Given the description of an element on the screen output the (x, y) to click on. 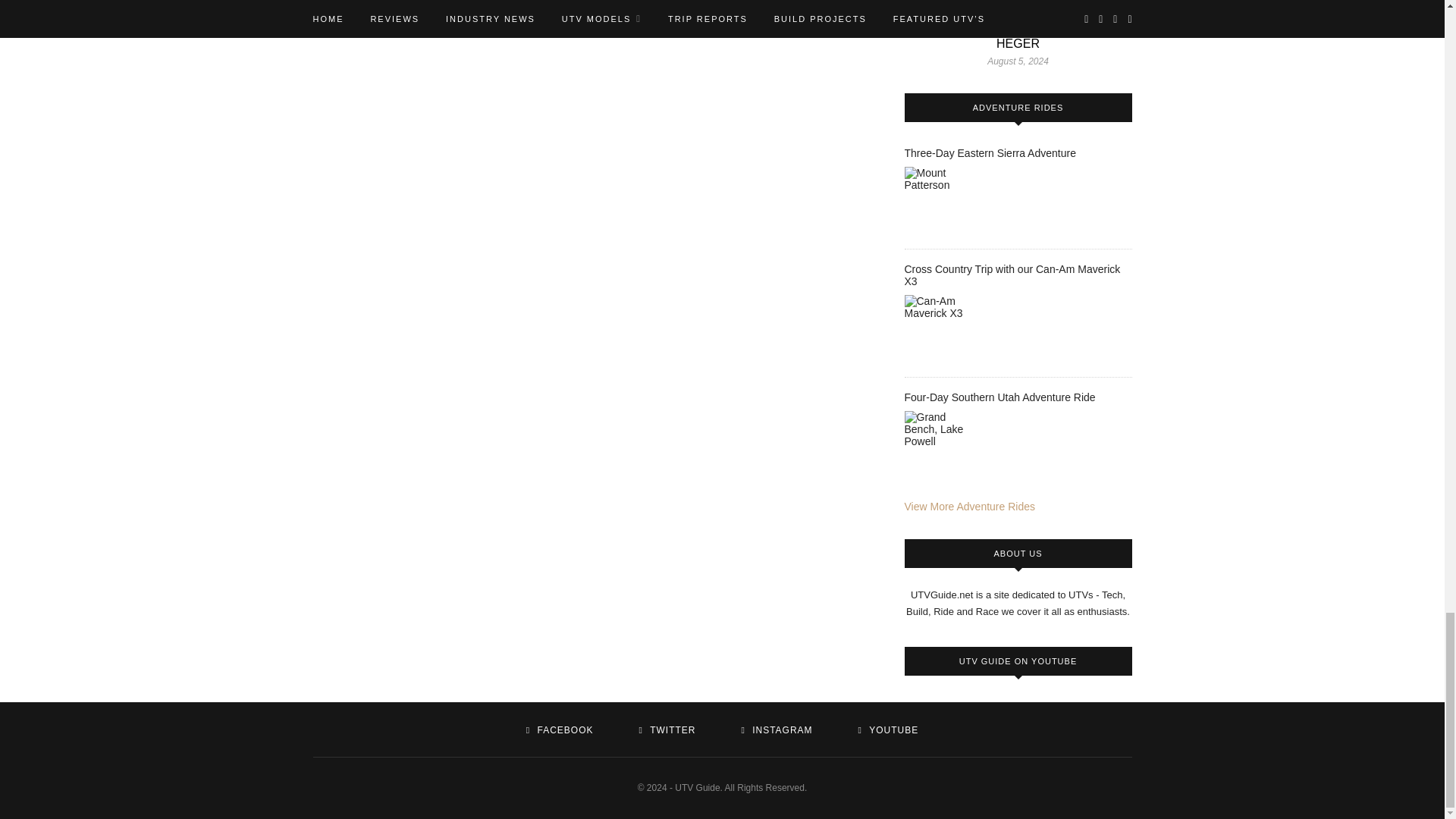
Cross Country Trip with our Can-Am Maverick X3 (941, 332)
Three-Day Eastern Sierra Adventure (941, 204)
Four-Day Southern Utah Adventure Ride (941, 448)
